Given the description of an element on the screen output the (x, y) to click on. 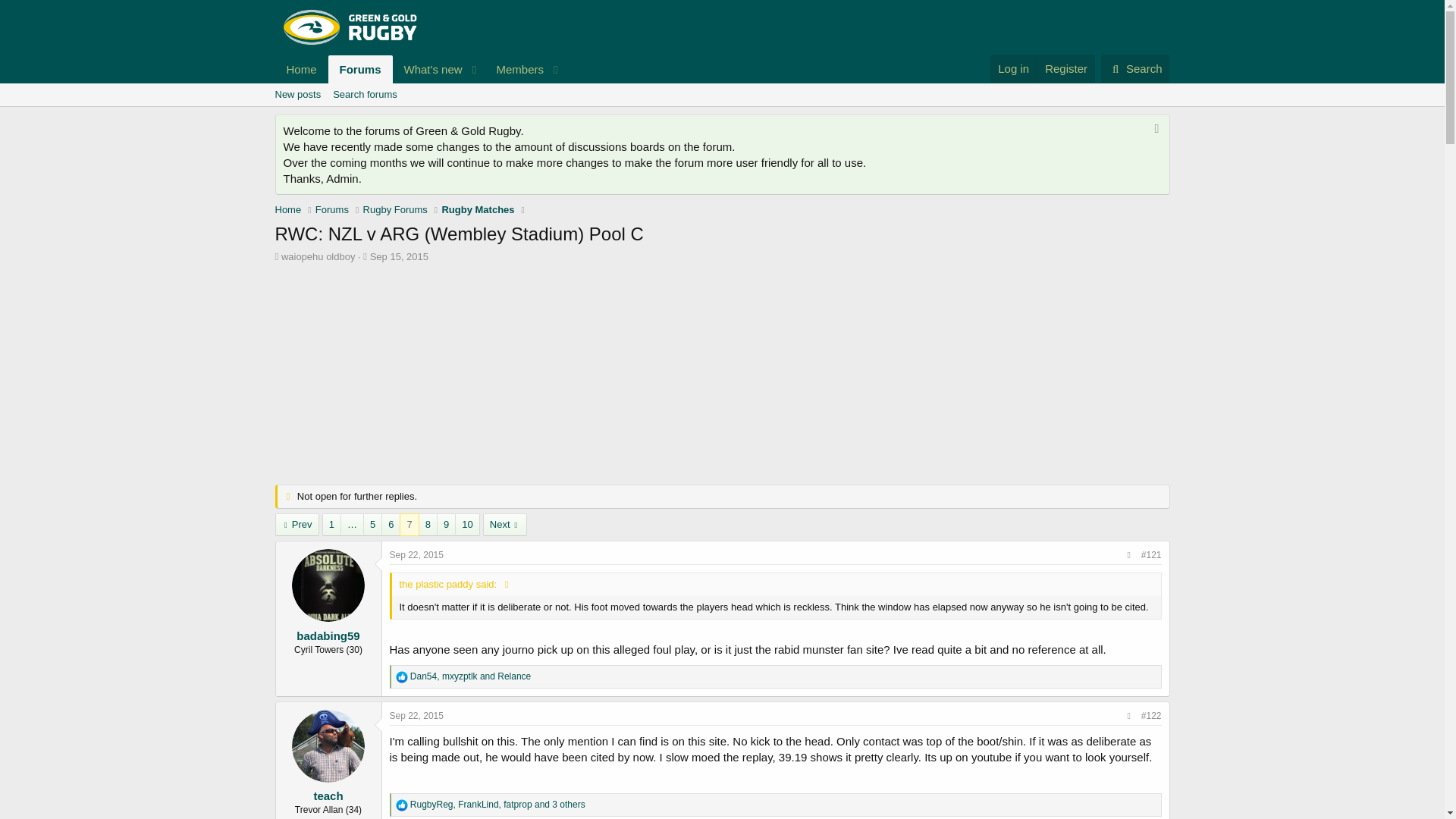
Sep 22, 2015 at 2:00 AM (419, 69)
What's new (417, 554)
Sep 22, 2015 at 4:28 AM (428, 69)
Home (417, 715)
Log in (288, 209)
Forums (1013, 68)
Rugby Matches (332, 209)
Members (477, 209)
New posts (514, 69)
